Given the description of an element on the screen output the (x, y) to click on. 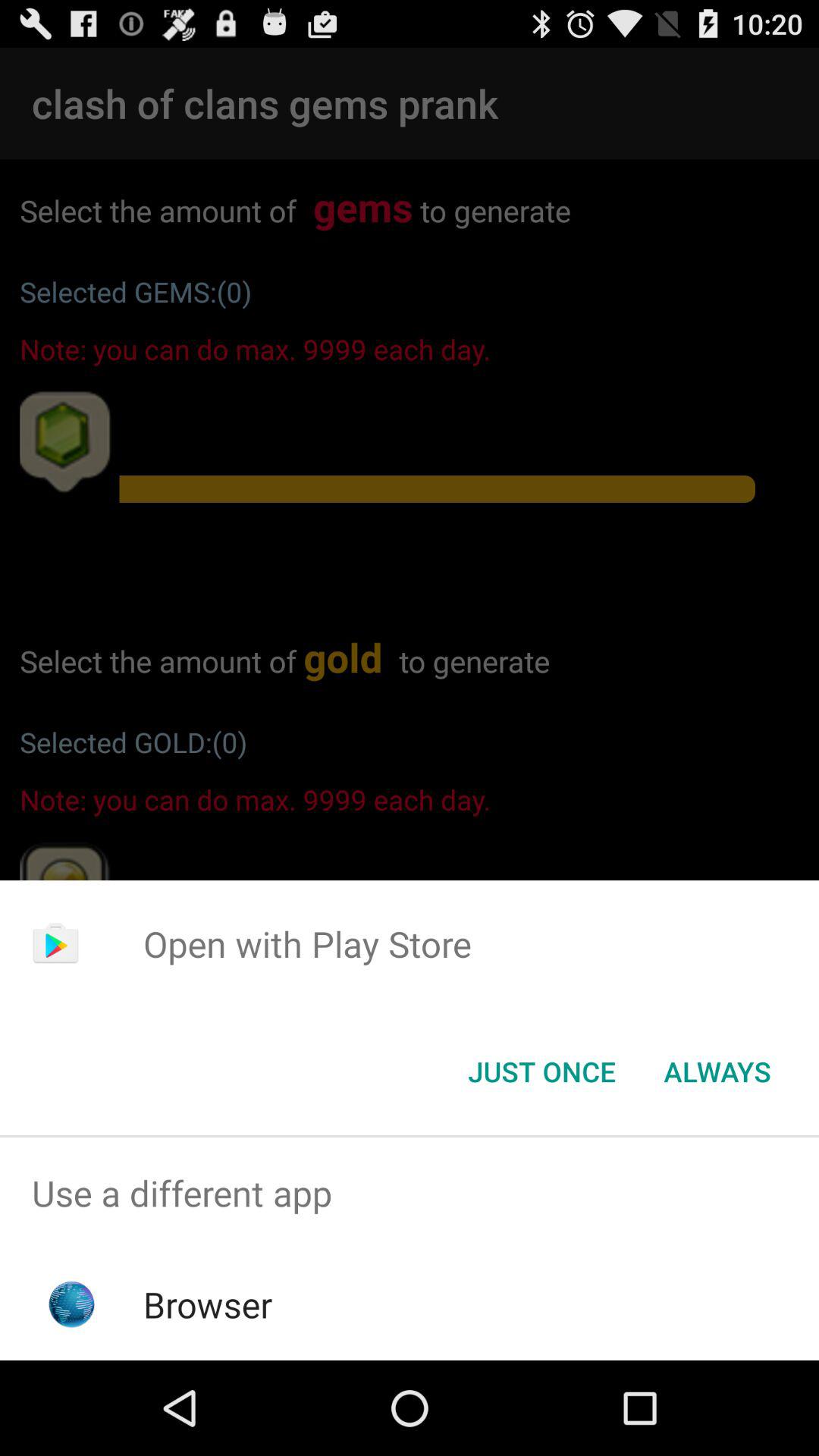
click always at the bottom right corner (717, 1071)
